Given the description of an element on the screen output the (x, y) to click on. 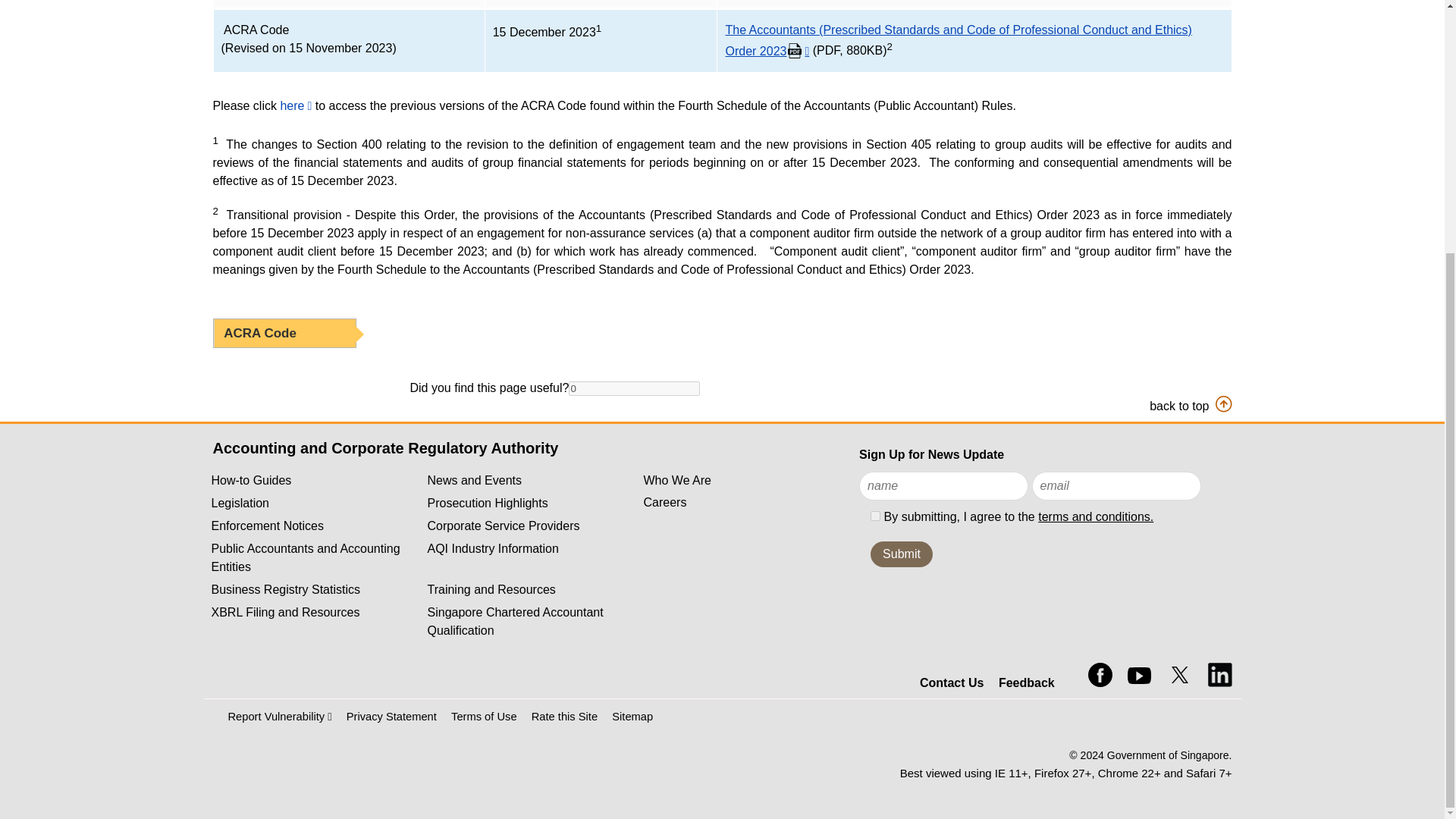
Submit (901, 554)
0 (634, 388)
on (875, 515)
